Given the description of an element on the screen output the (x, y) to click on. 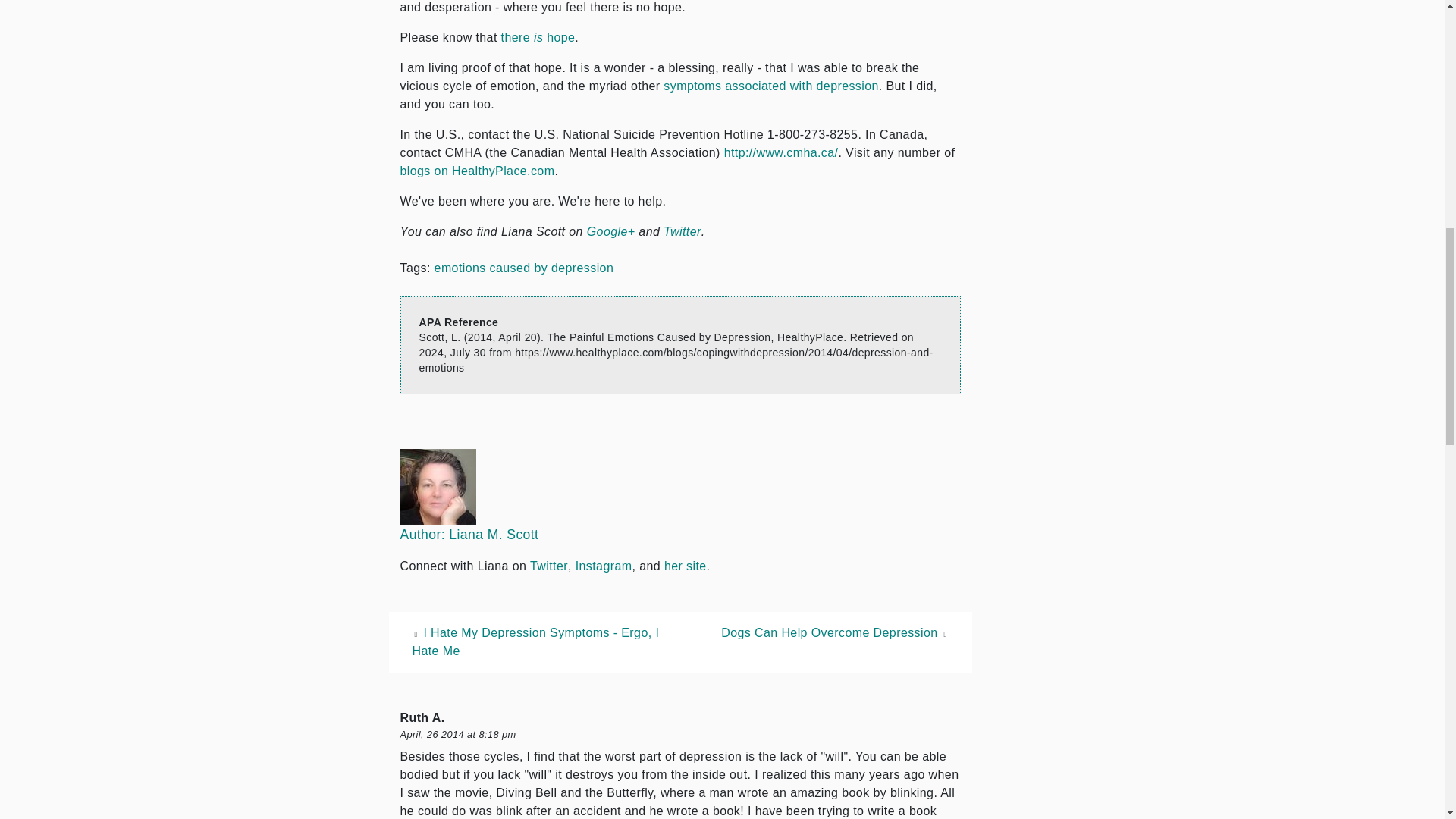
Mental Illness and Hope (537, 37)
Canadian Mental Health Association (780, 152)
Mental Health Blogs (477, 170)
Depression Symptoms: What are the Symptoms of Depression? (770, 85)
